Given the description of an element on the screen output the (x, y) to click on. 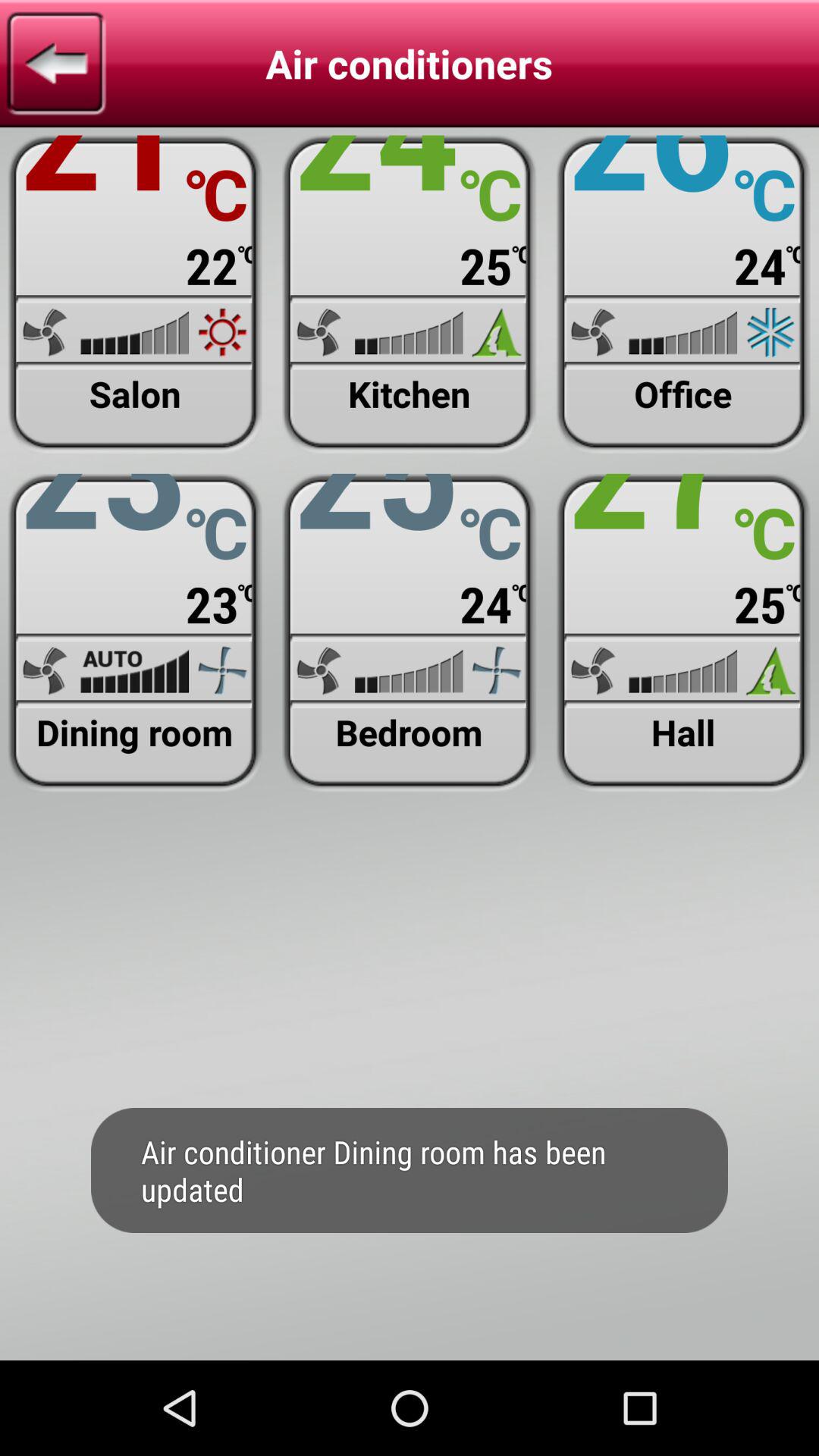
climate of the option (134, 294)
